Given the description of an element on the screen output the (x, y) to click on. 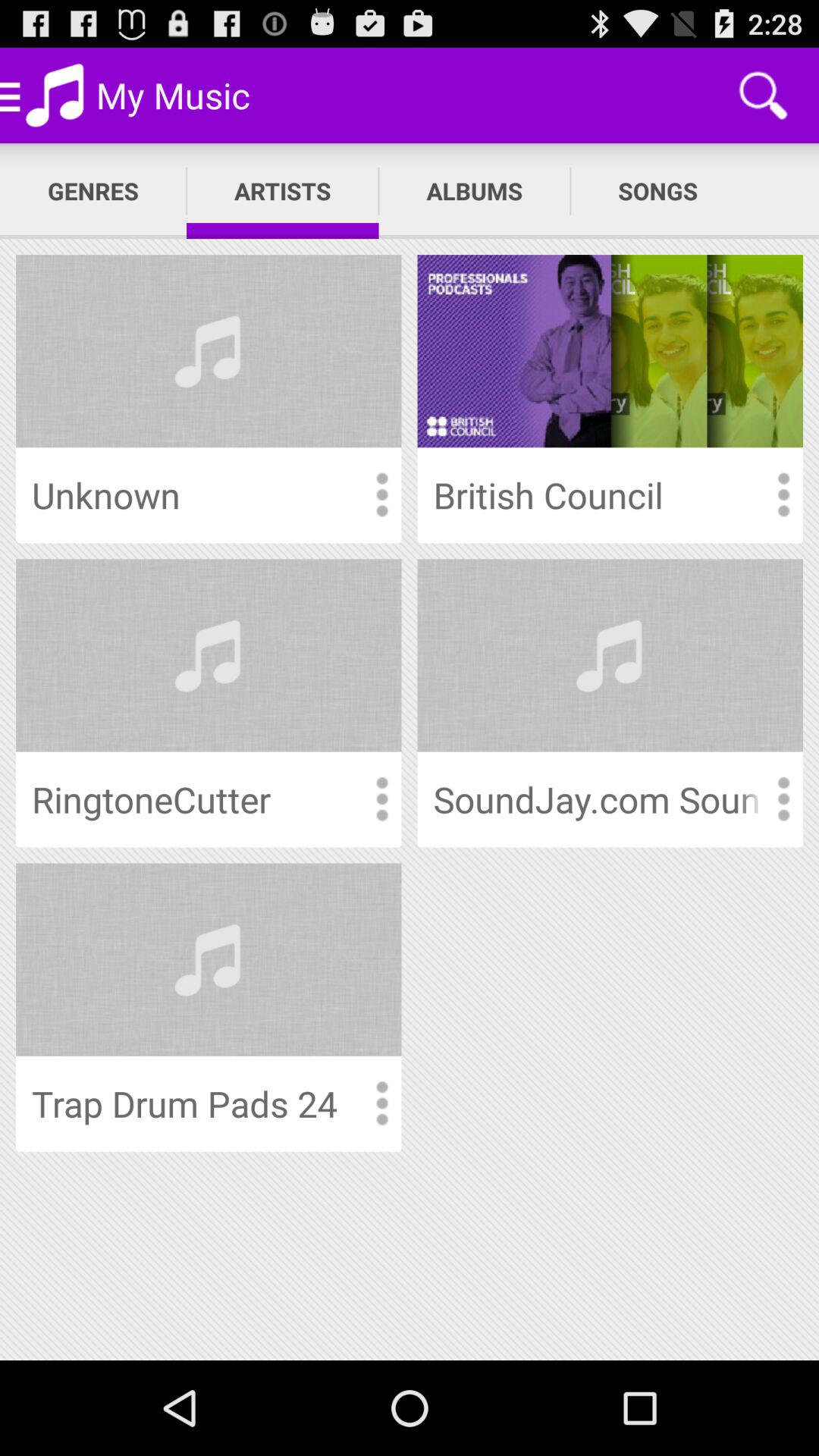
information view option (381, 495)
